Given the description of an element on the screen output the (x, y) to click on. 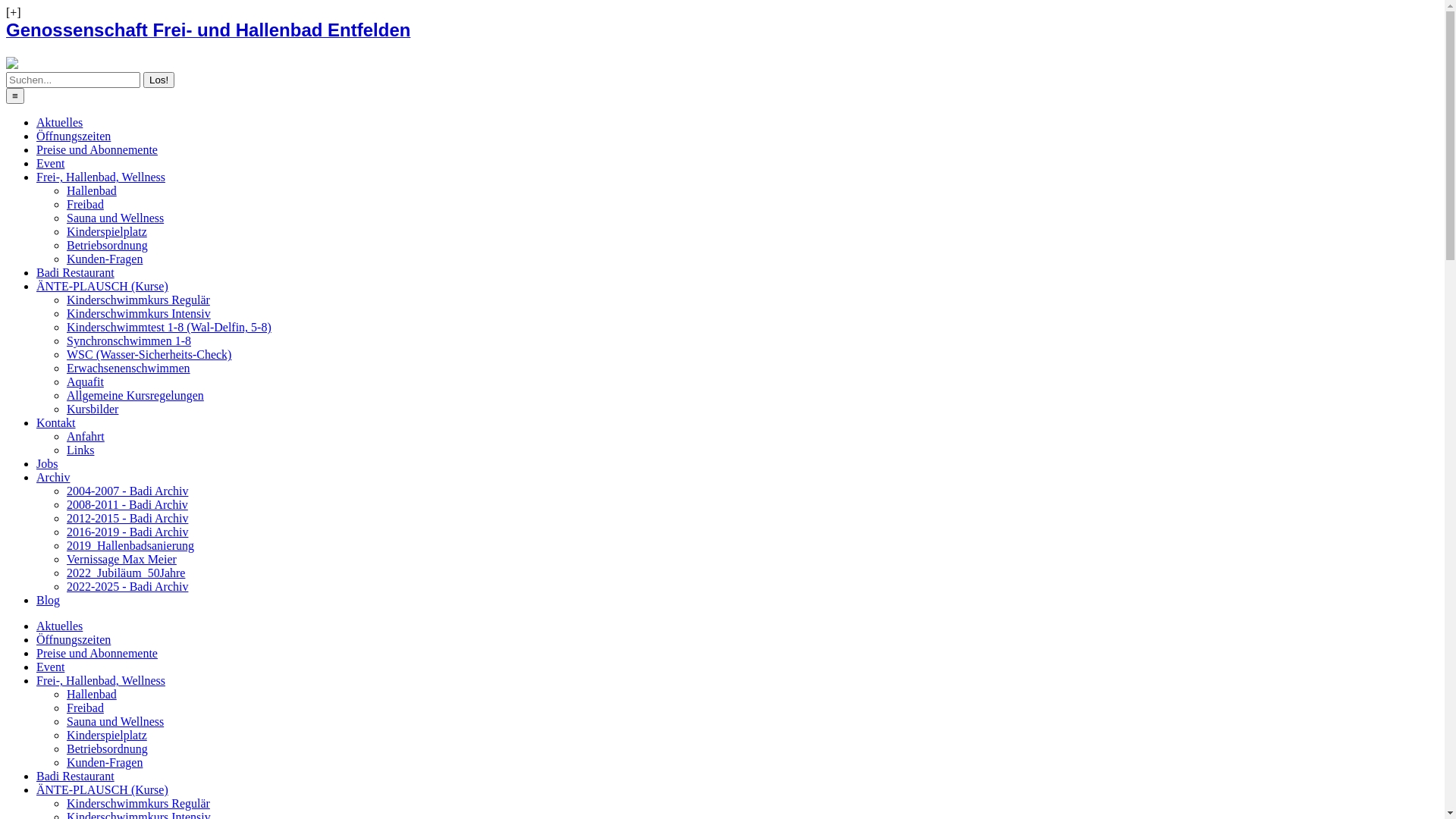
Freibad Element type: text (84, 707)
Kontakt Element type: text (55, 422)
Los! Element type: text (158, 79)
Archiv Element type: text (52, 476)
Allgemeine Kursregelungen Element type: text (134, 395)
Anfahrt Element type: text (85, 435)
2008-2011 - Badi Archiv Element type: text (127, 504)
Freibad Element type: text (84, 203)
Kunden-Fragen Element type: text (104, 762)
Jobs Element type: text (46, 463)
Frei-, Hallenbad, Wellness Element type: text (100, 680)
2004-2007 - Badi Archiv Element type: text (127, 490)
Kinderspielplatz Element type: text (106, 734)
Event Element type: text (50, 666)
Kinderschwimmkurs Intensiv Element type: text (138, 313)
Aktuelles Element type: text (59, 625)
Badi Restaurant Element type: text (75, 775)
2016-2019 - Badi Archiv Element type: text (127, 531)
Aquafit Element type: text (84, 381)
Hallenbad Element type: text (91, 190)
Kunden-Fragen Element type: text (104, 258)
Hallenbad Element type: text (91, 693)
Frei-, Hallenbad, Wellness Element type: text (100, 176)
Event Element type: text (50, 162)
Erwachsenenschwimmen Element type: text (128, 367)
Vernissage Max Meier Element type: text (121, 558)
Badi Restaurant Element type: text (75, 272)
Betriebsordnung Element type: text (106, 748)
Preise und Abonnemente Element type: text (96, 149)
Genossenschaft Frei- und Hallenbad Entfelden Element type: text (722, 29)
Betriebsordnung Element type: text (106, 244)
Sauna und Wellness Element type: text (114, 721)
Kinderspielplatz Element type: text (106, 231)
Kinderschwimmtest 1-8 (Wal-Delfin, 5-8) Element type: text (168, 326)
Kursbilder Element type: text (92, 408)
Synchronschwimmen 1-8 Element type: text (128, 340)
Blog Element type: text (47, 599)
Aktuelles Element type: text (59, 122)
2019_Hallenbadsanierung Element type: text (130, 545)
WSC (Wasser-Sicherheits-Check) Element type: text (148, 354)
2012-2015 - Badi Archiv Element type: text (127, 517)
Preise und Abonnemente Element type: text (96, 652)
Sauna und Wellness Element type: text (114, 217)
Links Element type: text (80, 449)
2022-2025 - Badi Archiv Element type: text (127, 586)
